Given the description of an element on the screen output the (x, y) to click on. 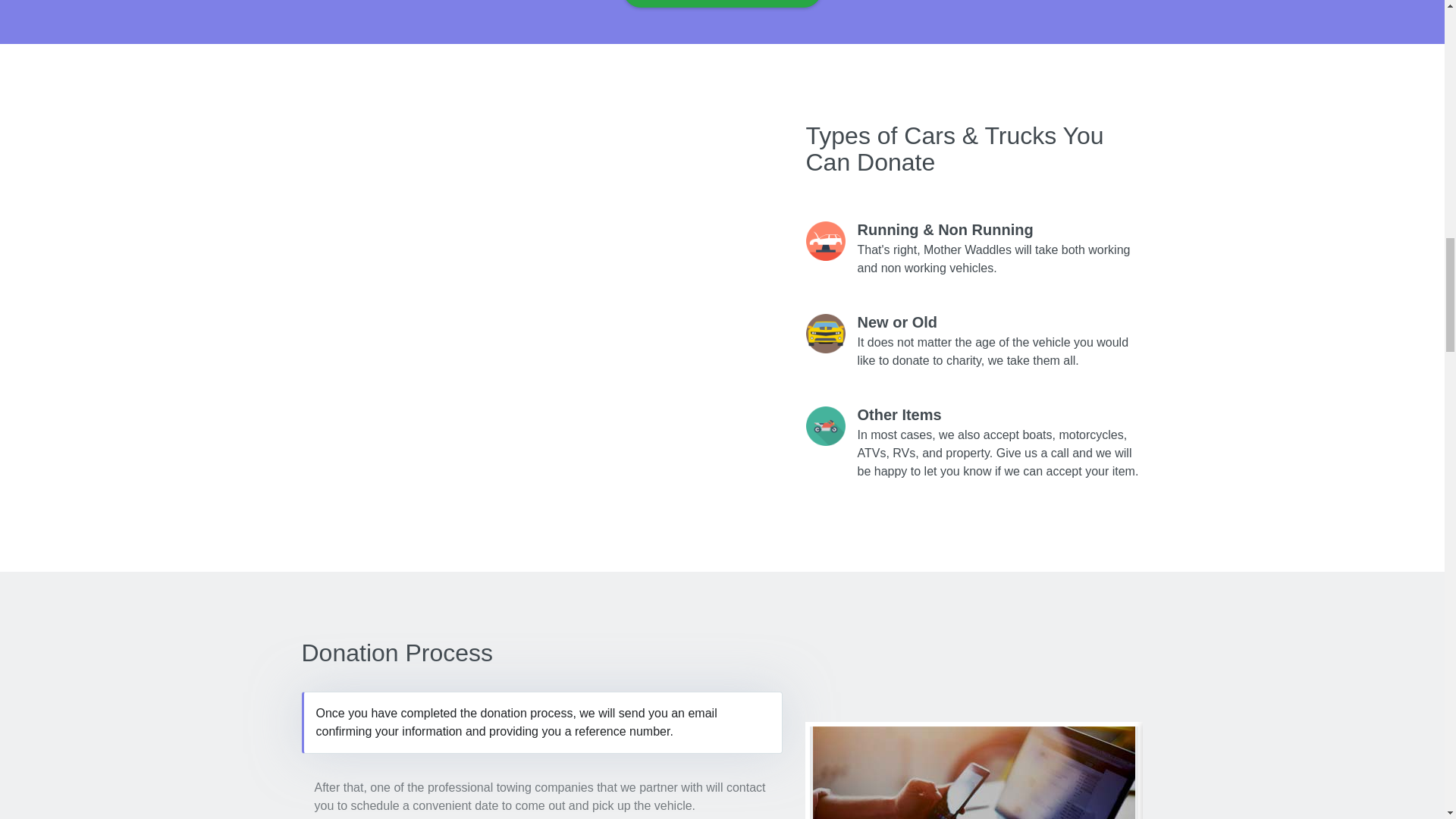
START MY DONATION (722, 3)
